Given the description of an element on the screen output the (x, y) to click on. 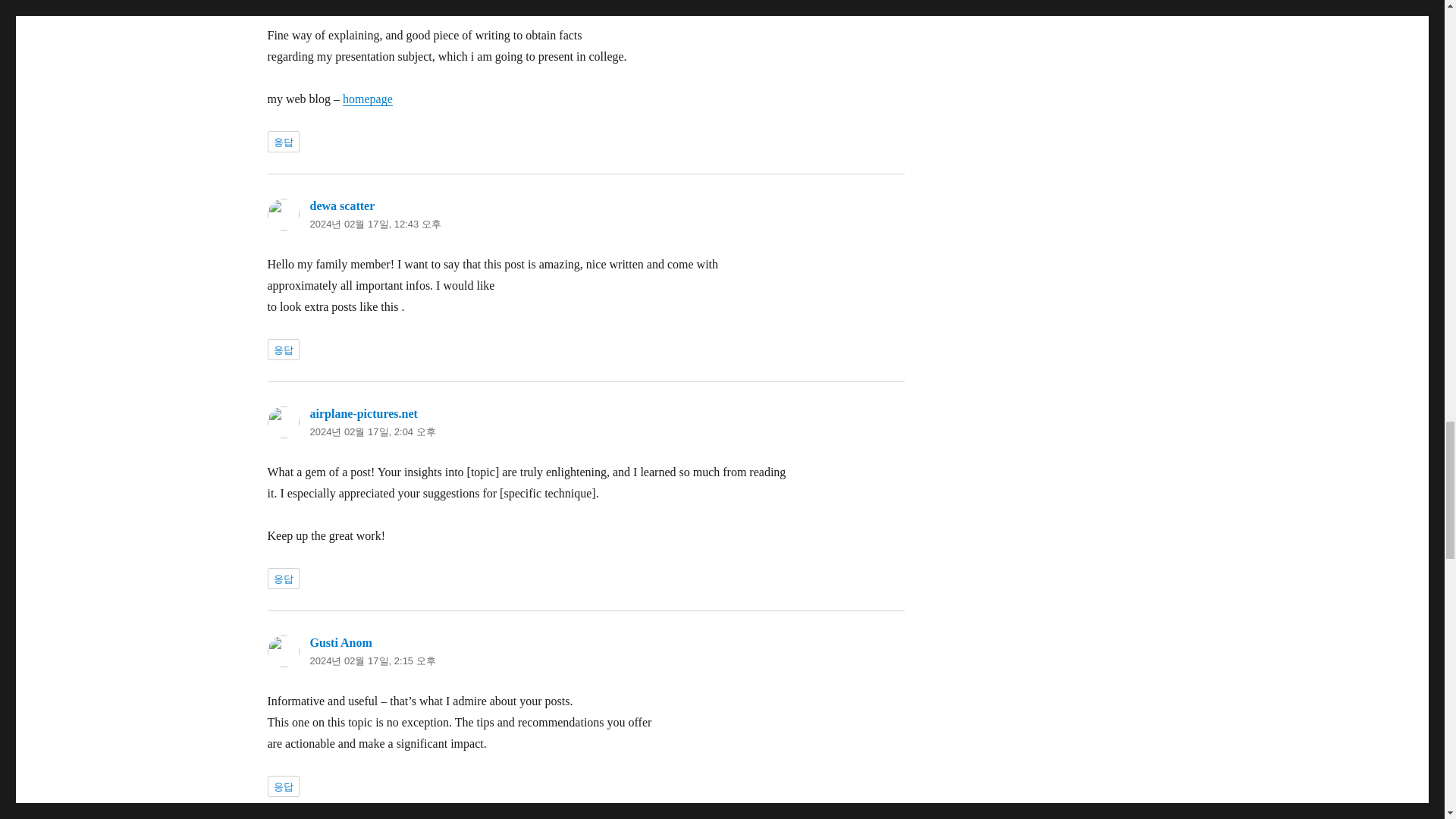
airplane-pictures.net (362, 413)
Gusti Anom (339, 642)
dewa scatter (341, 205)
homepage (367, 98)
